Given the description of an element on the screen output the (x, y) to click on. 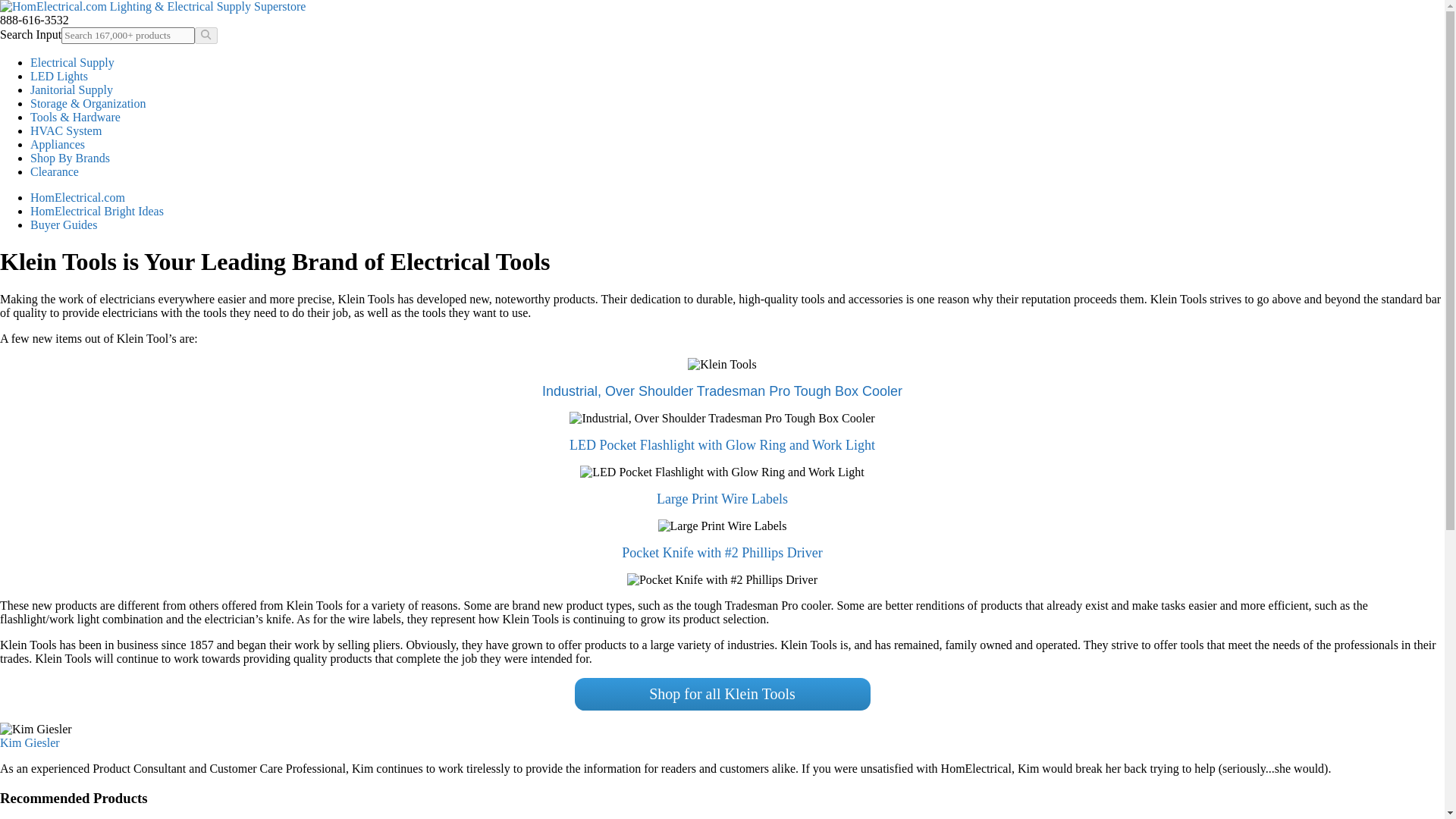
LED Lights (58, 75)
Electrical Supply (72, 62)
Klein Tools Large Print Wire Labels Blog (721, 498)
HomElectrical Bright Ideas (96, 210)
Appliances (57, 144)
HVAC System (65, 130)
Janitorial Supply (71, 89)
HomElectrical.com (77, 196)
HVAC System (65, 130)
Klein Tools Pocket Flashlight and Work Light Blog (722, 444)
